Given the description of an element on the screen output the (x, y) to click on. 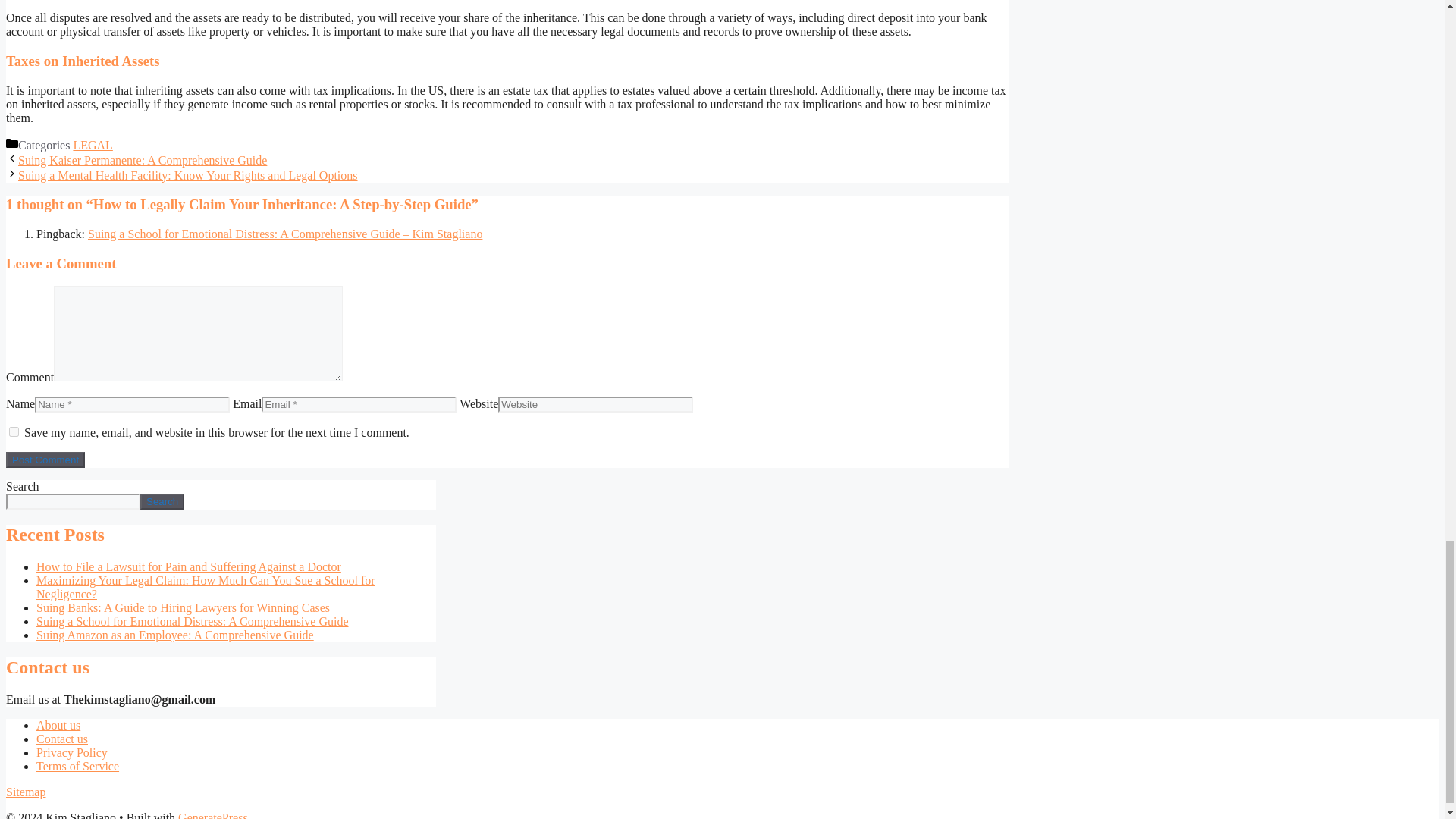
LEGAL (92, 144)
Suing a School for Emotional Distress: A Comprehensive Guide (192, 621)
Search (161, 501)
Suing Banks: A Guide to Hiring Lawyers for Winning Cases (183, 607)
Post Comment (44, 459)
Contact us (61, 738)
Suing Amazon as an Employee: A Comprehensive Guide (175, 634)
Sitemap (25, 791)
Post Comment (44, 459)
